Given the description of an element on the screen output the (x, y) to click on. 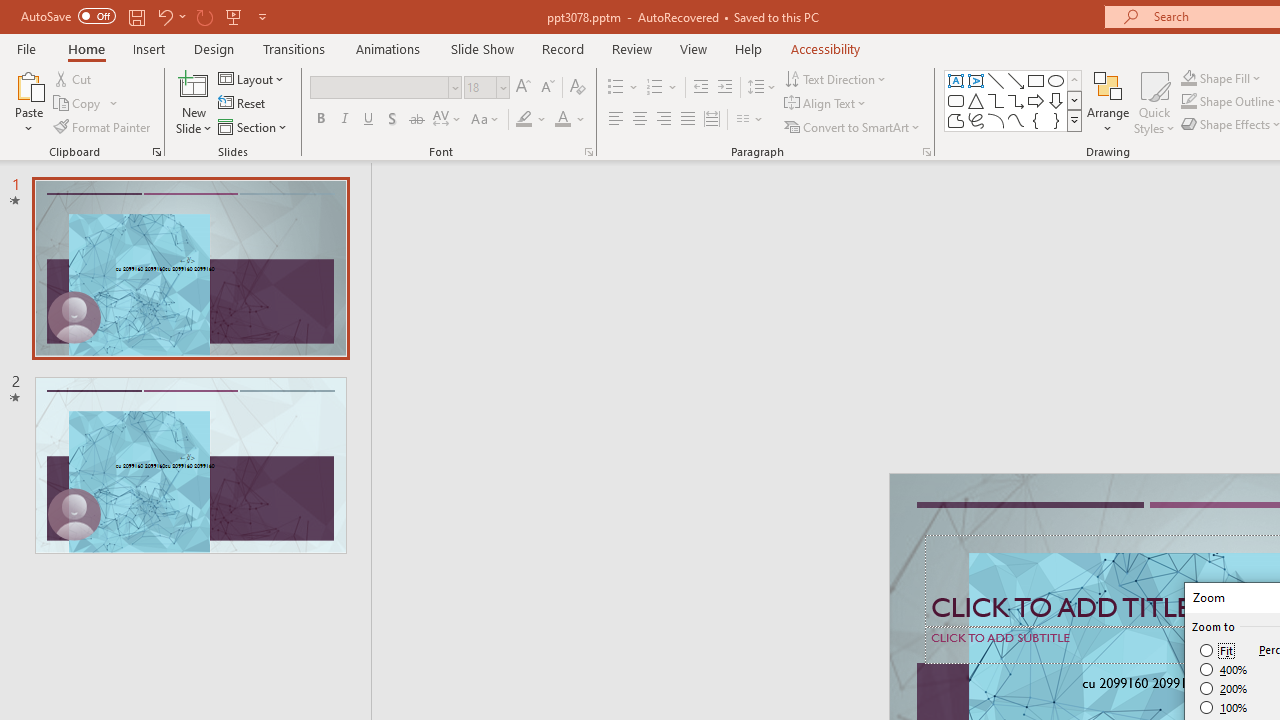
400% (1224, 669)
